Given the description of an element on the screen output the (x, y) to click on. 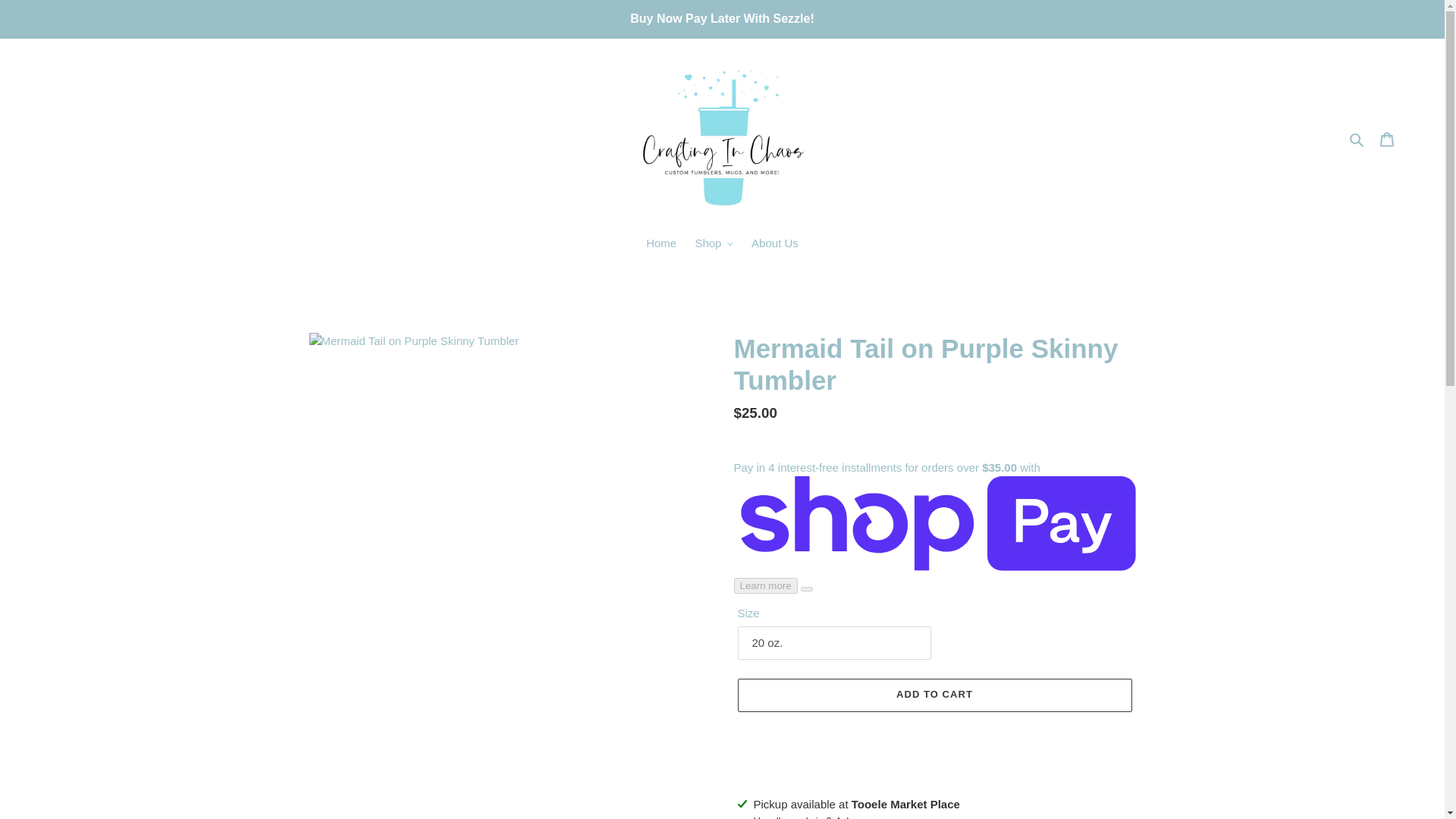
Cart (1387, 138)
Search (1357, 138)
Buy Now Pay Later With Sezzle! (721, 18)
